Given the description of an element on the screen output the (x, y) to click on. 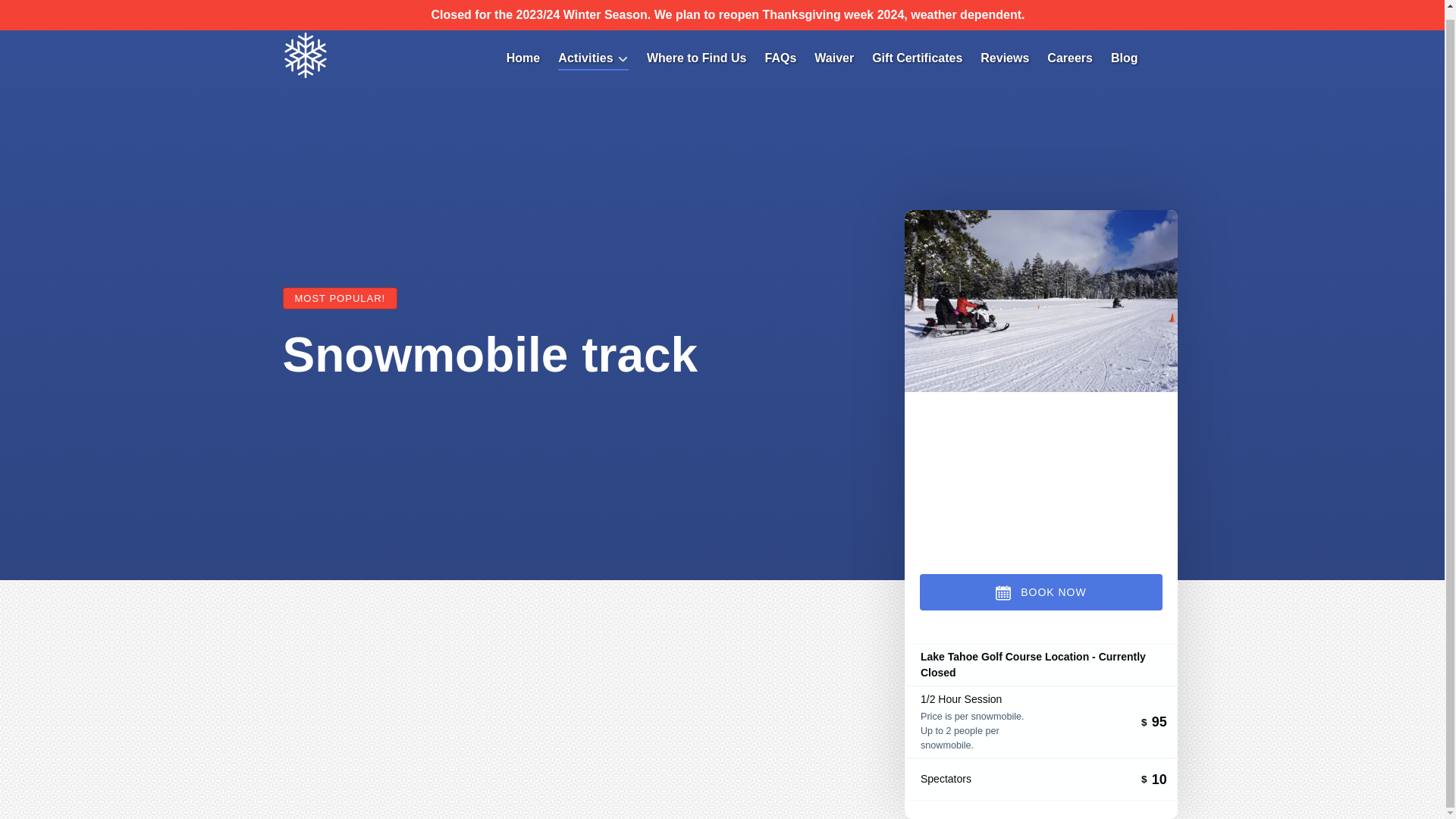
FAQs (780, 58)
Skip to content (47, 8)
Home (522, 58)
BOOK NOW (1039, 592)
Gift Certificates (917, 58)
Reviews (1004, 58)
Blog (1124, 58)
Skip to footer (42, 8)
Open Activities Menu (596, 54)
Activities (592, 58)
Waiver (834, 58)
Skip to primary navigation (77, 8)
Where to Find Us (696, 58)
Careers (1070, 58)
